Given the description of an element on the screen output the (x, y) to click on. 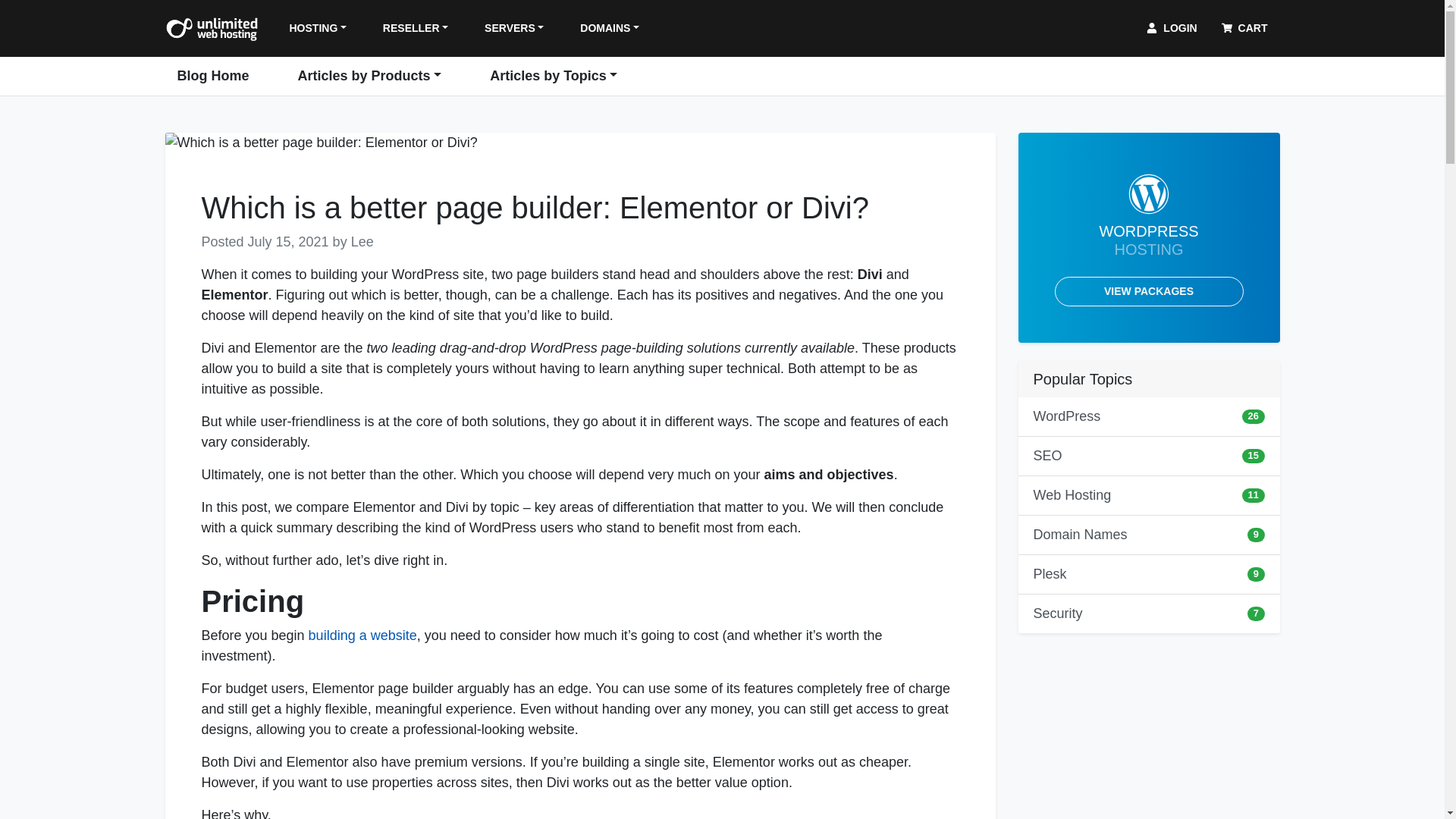
Articles by Topics (552, 75)
DOMAINS (609, 28)
LOGIN (1171, 28)
HOSTING (317, 28)
RESELLER (415, 28)
CART (1244, 28)
SERVERS (514, 28)
Articles by Products (369, 75)
Blog Home (213, 75)
